Given the description of an element on the screen output the (x, y) to click on. 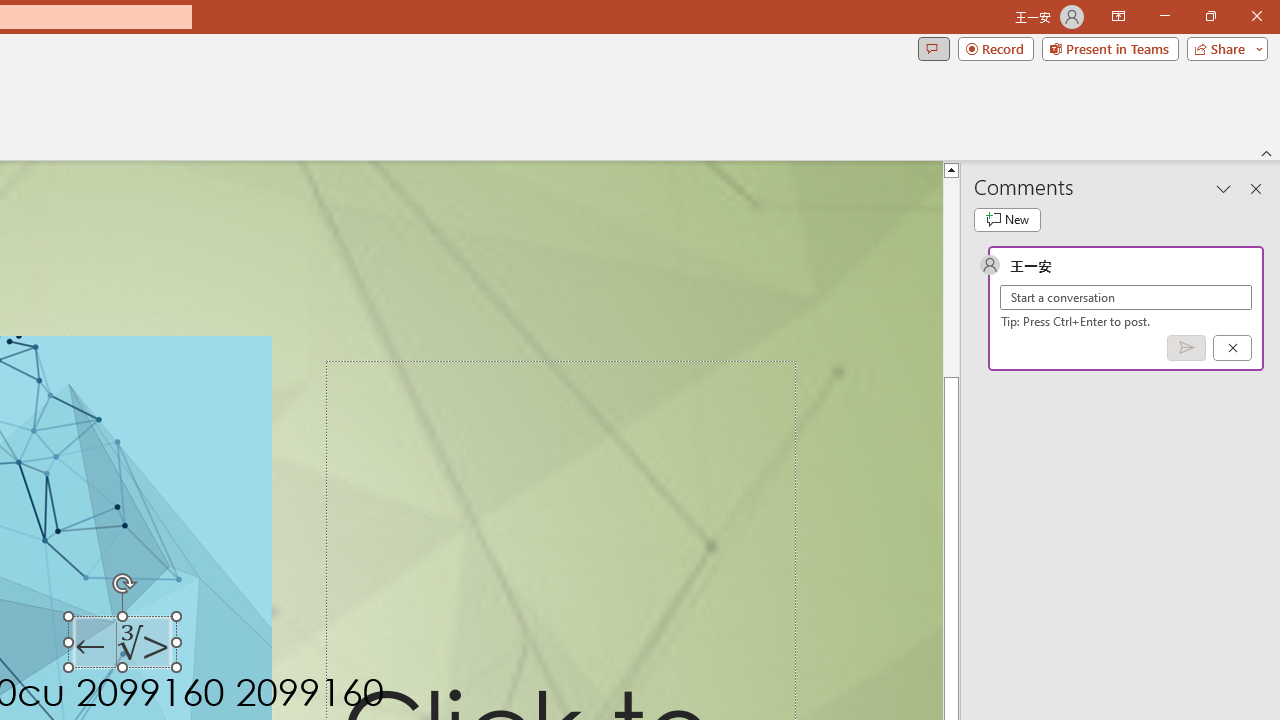
New comment (1007, 219)
Start a conversation (1126, 297)
Post comment (Ctrl + Enter) (1186, 347)
